Given the description of an element on the screen output the (x, y) to click on. 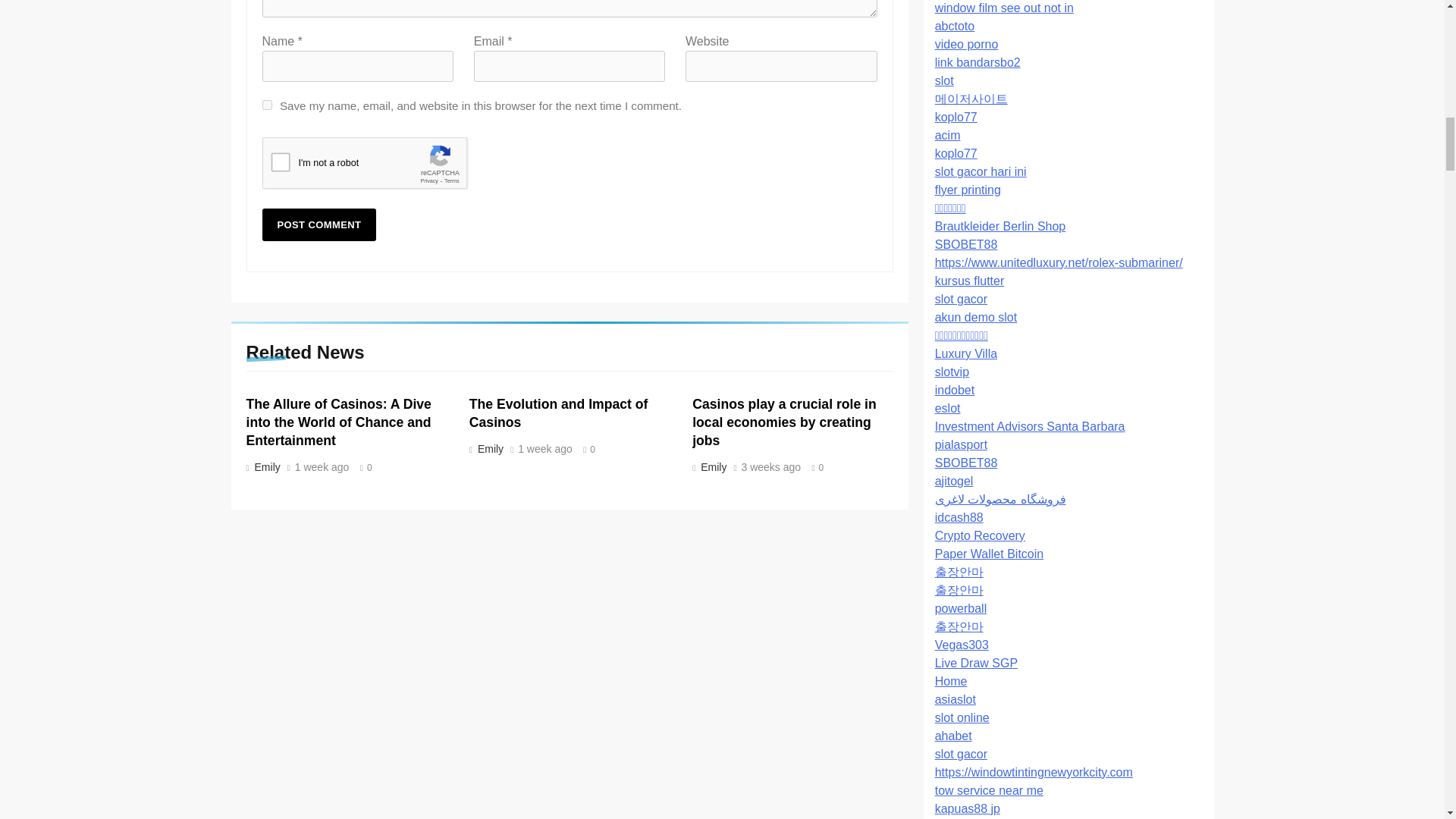
The Evolution and Impact of Casinos (557, 412)
reCAPTCHA (377, 166)
yes (267, 104)
Emily (265, 467)
1 week ago (545, 449)
1 week ago (322, 467)
Post Comment (319, 224)
Emily (488, 449)
Emily (712, 467)
3 weeks ago (771, 467)
Post Comment (319, 224)
